Given the description of an element on the screen output the (x, y) to click on. 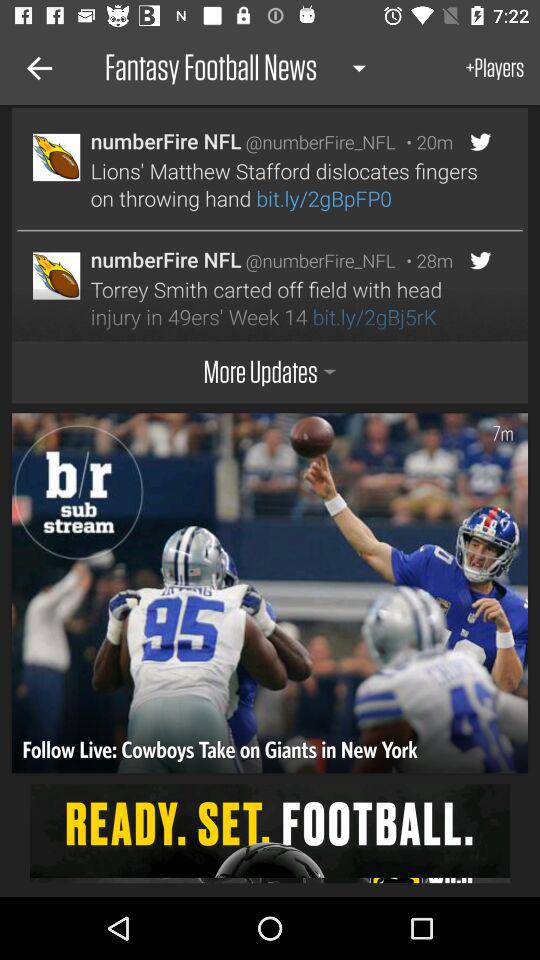
choose the icon below the numberfire nfl icon (287, 303)
